Given the description of an element on the screen output the (x, y) to click on. 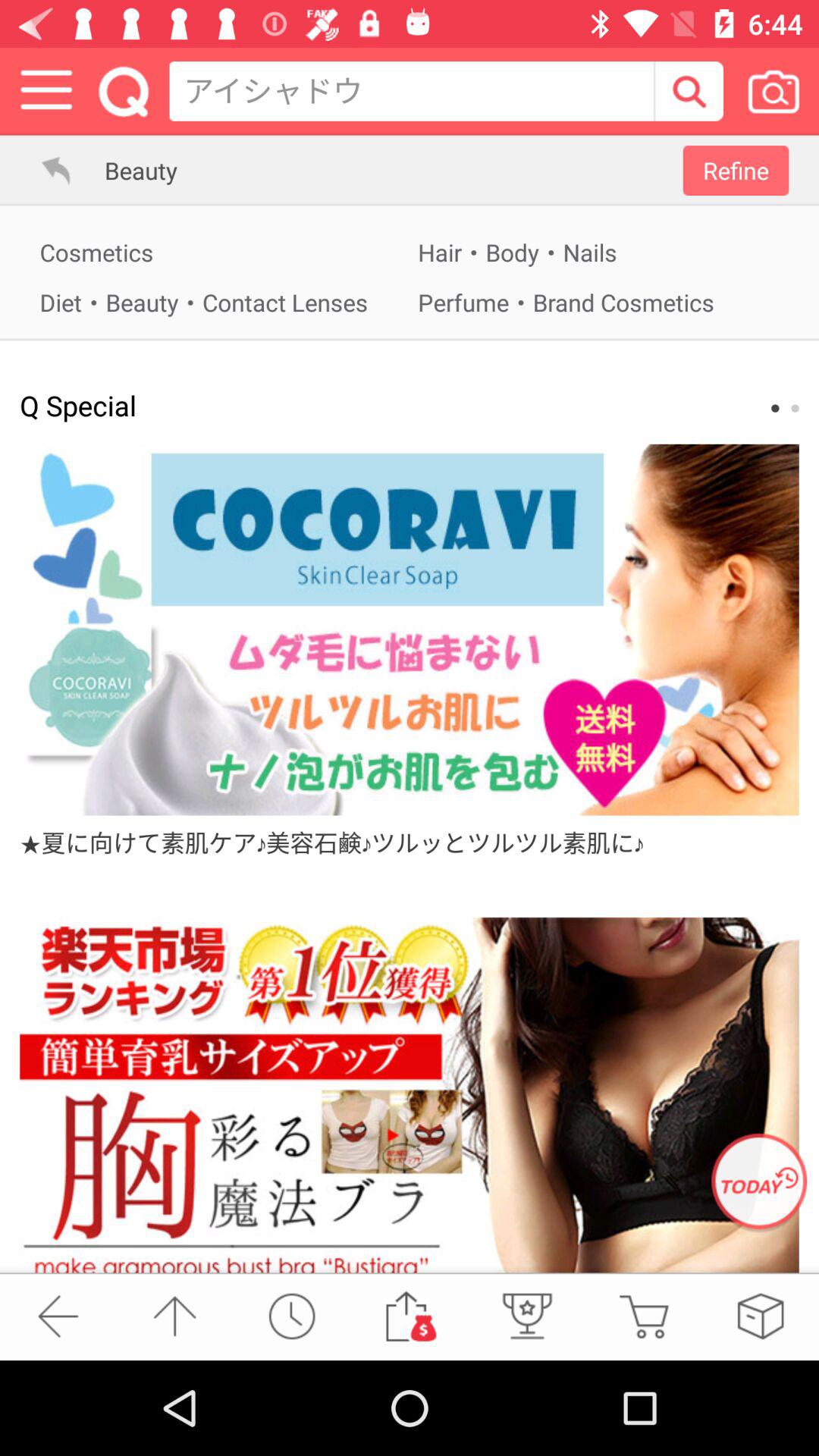
the menu bar (46, 91)
